Given the description of an element on the screen output the (x, y) to click on. 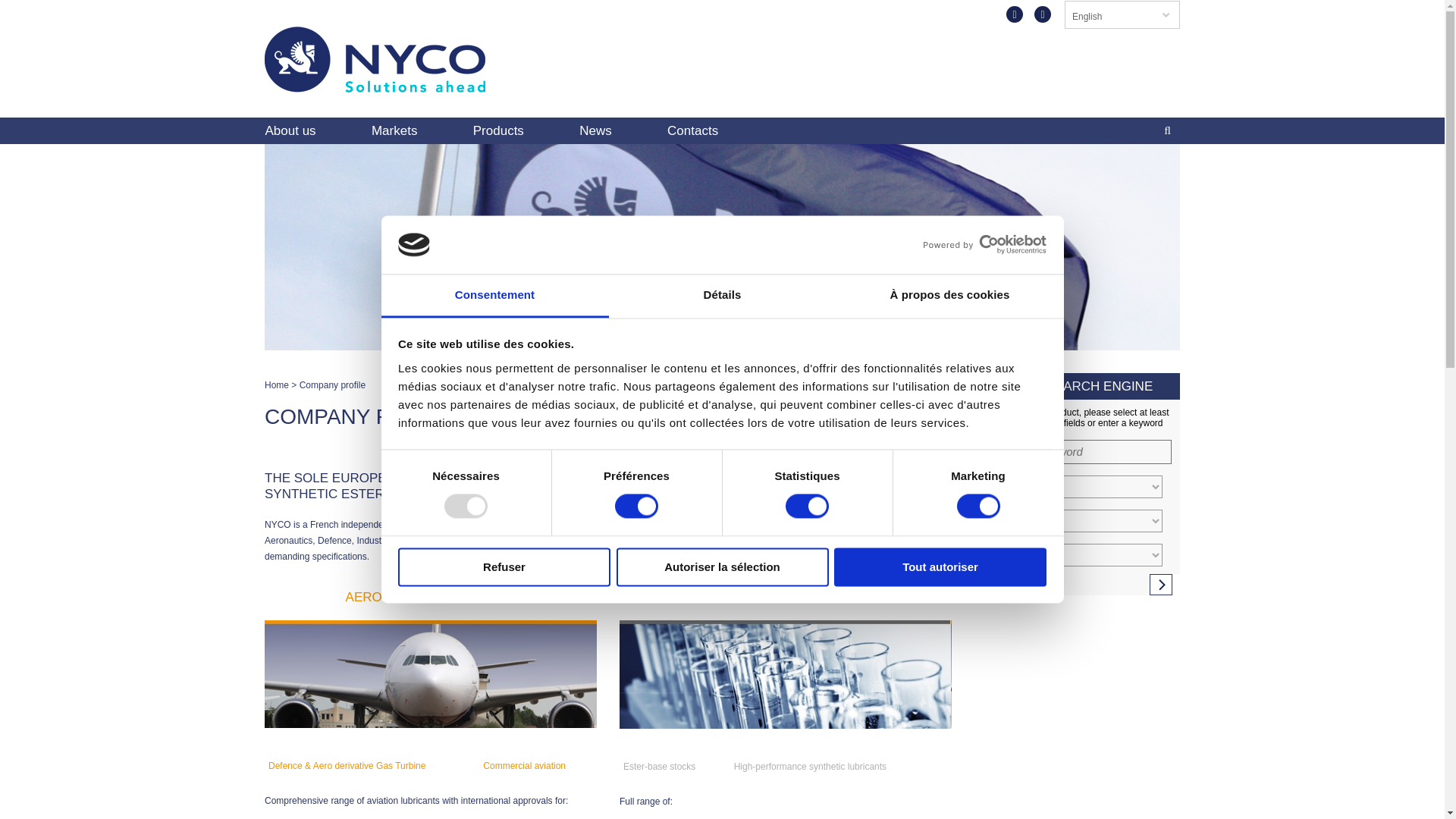
Companyprofile-aerodefence (430, 673)
Consentement (494, 295)
NYCO (374, 84)
Tout autoriser (940, 566)
Rechercher sur le site (1167, 129)
Companyprofile-industryauto (786, 673)
Refuser (503, 566)
Twitter (1014, 13)
LinkedIn (1042, 13)
